Given the description of an element on the screen output the (x, y) to click on. 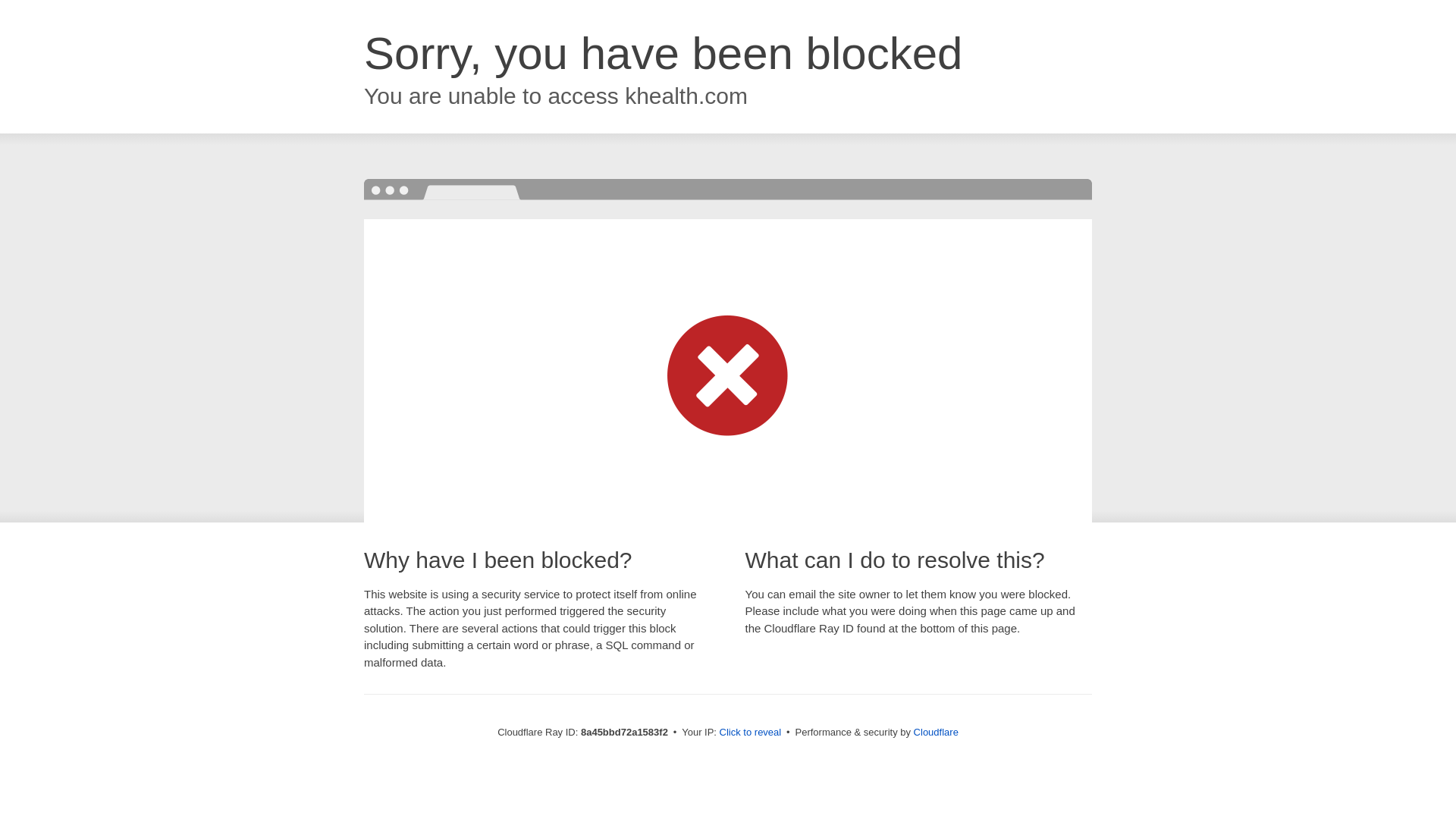
Click to reveal (750, 732)
Cloudflare (936, 731)
